Given the description of an element on the screen output the (x, y) to click on. 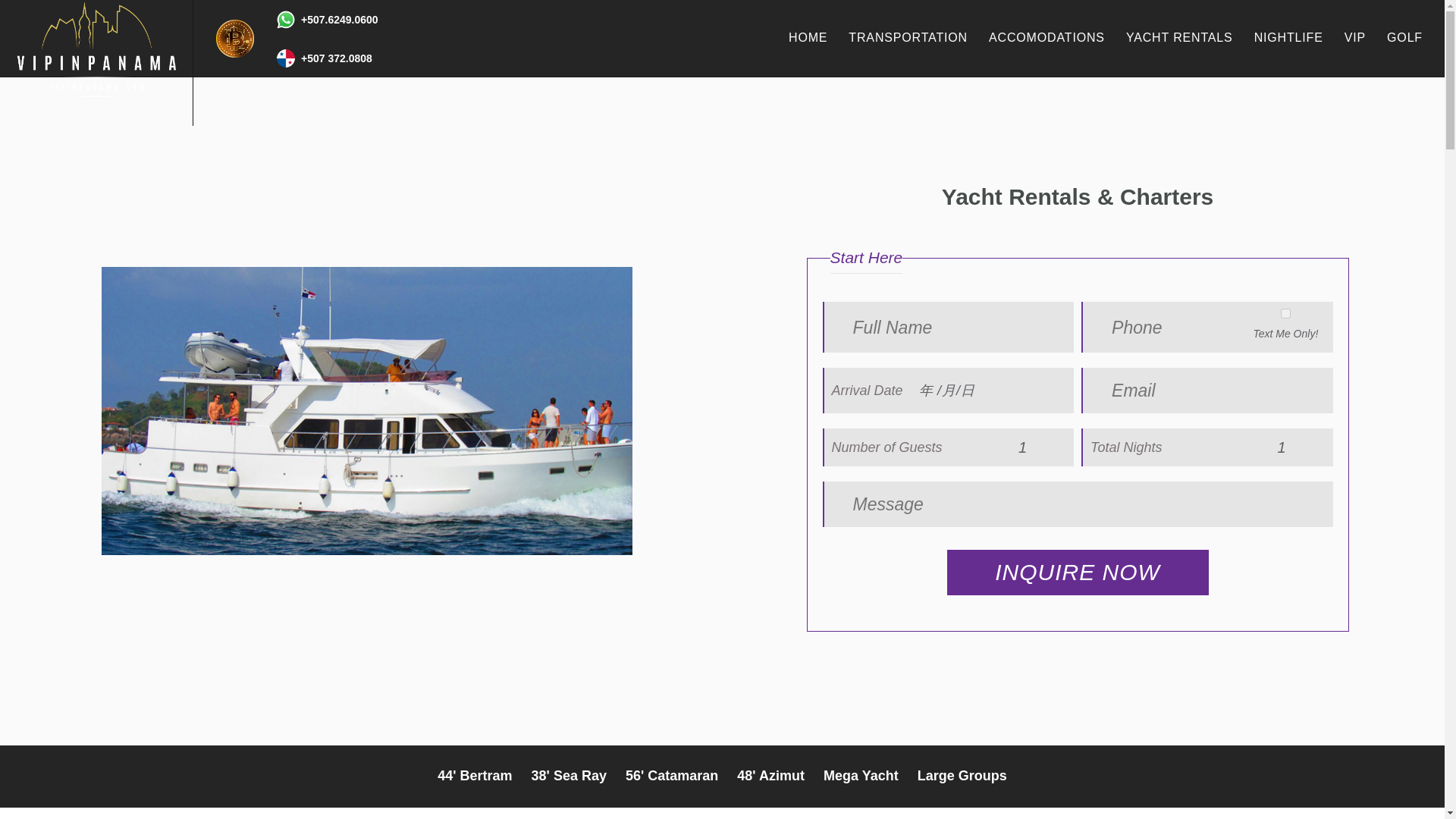
1 (1027, 447)
on (1285, 313)
1 (1286, 447)
